Given the description of an element on the screen output the (x, y) to click on. 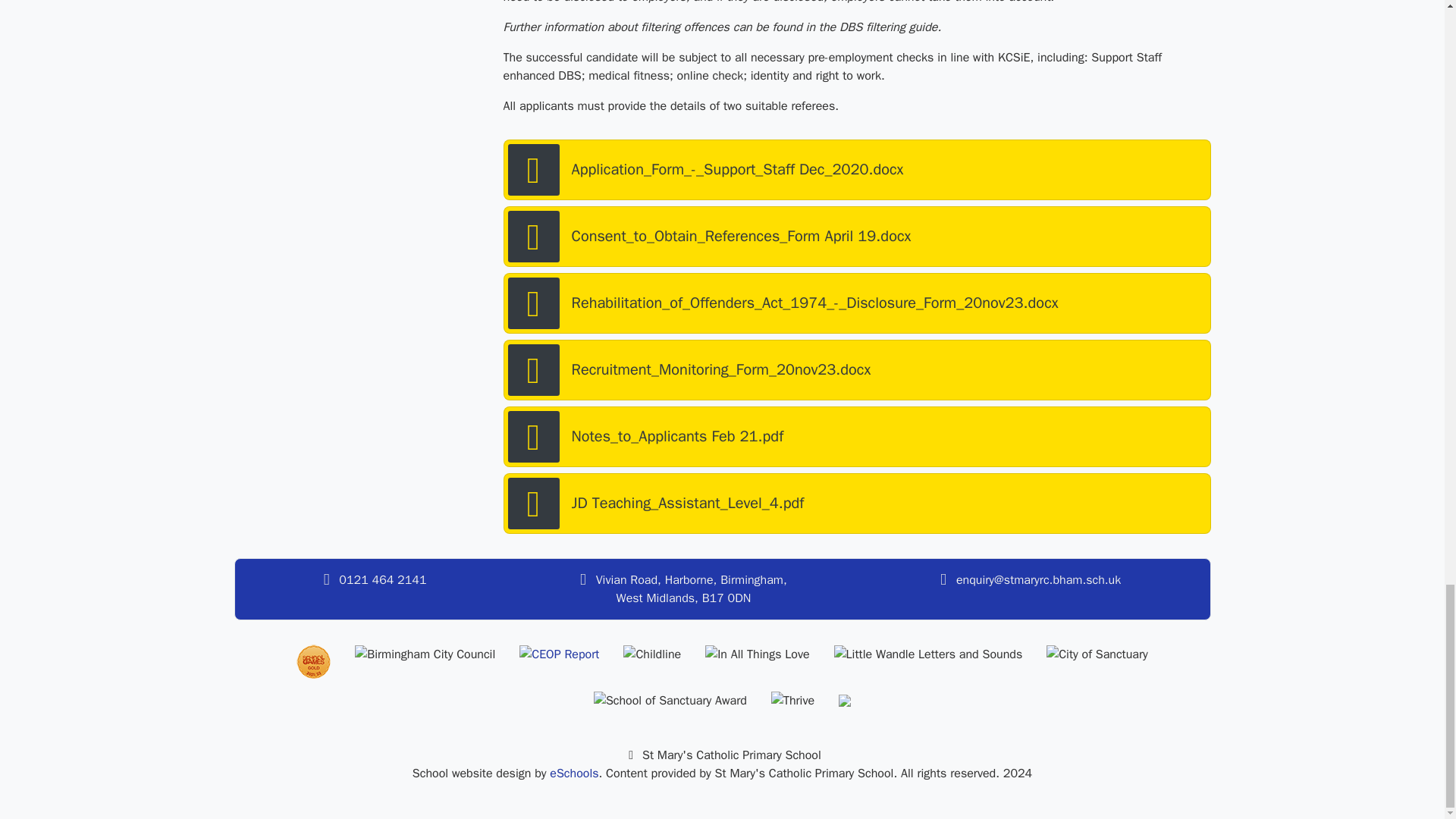
Childline (652, 654)
In All Things Love (756, 654)
Little Wandle Letters and Sounds (928, 654)
Birmingham City Council (425, 654)
School of Sanctuary Award (670, 700)
CEOP Report (558, 654)
City of Sanctuary (1097, 654)
Thrive (792, 700)
School Games Gold 2021-2022 (313, 661)
